Given the description of an element on the screen output the (x, y) to click on. 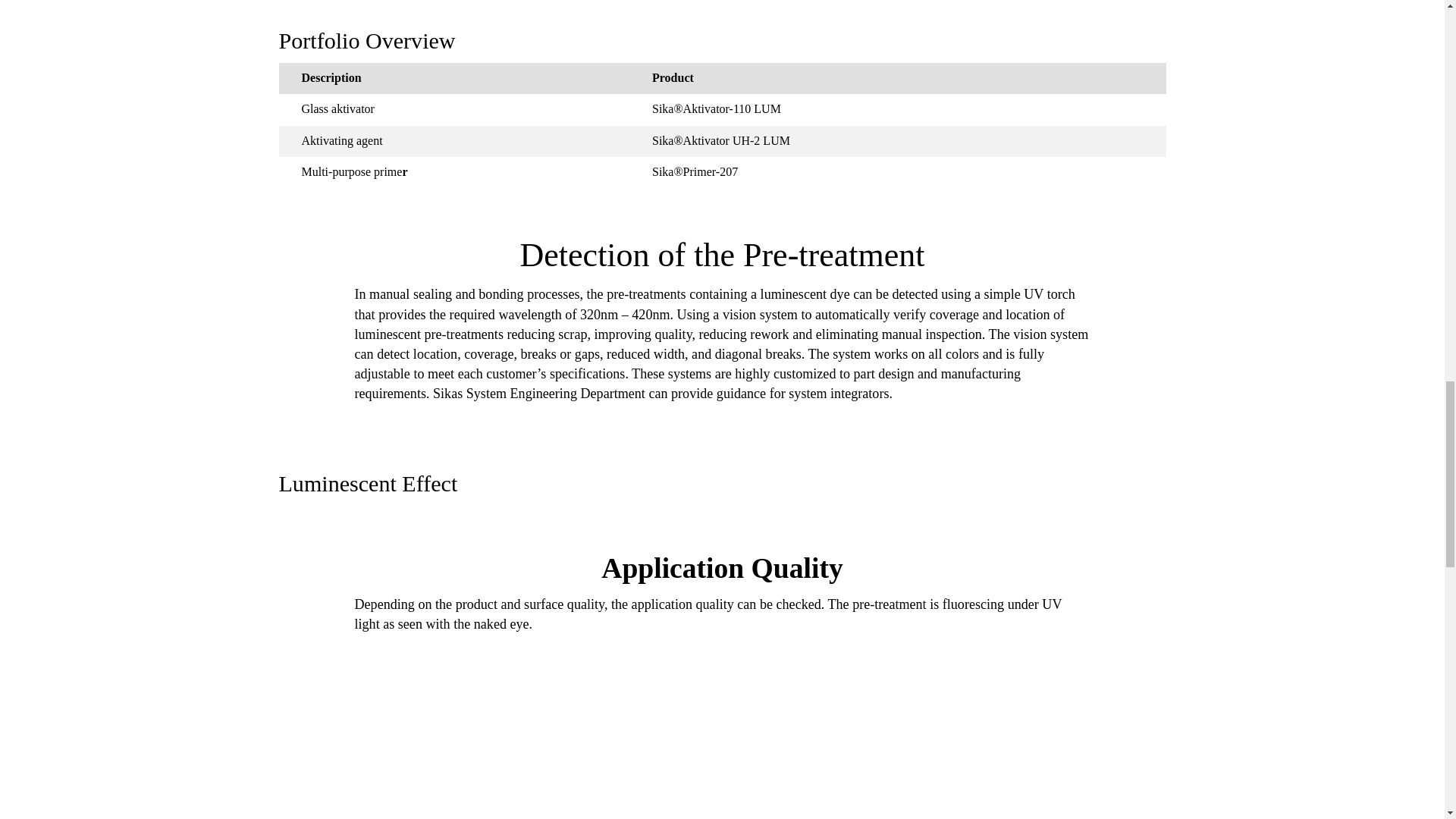
Detection with Cognex IN-Sight camera (949, 750)
Visual detection by eye (495, 750)
